Given the description of an element on the screen output the (x, y) to click on. 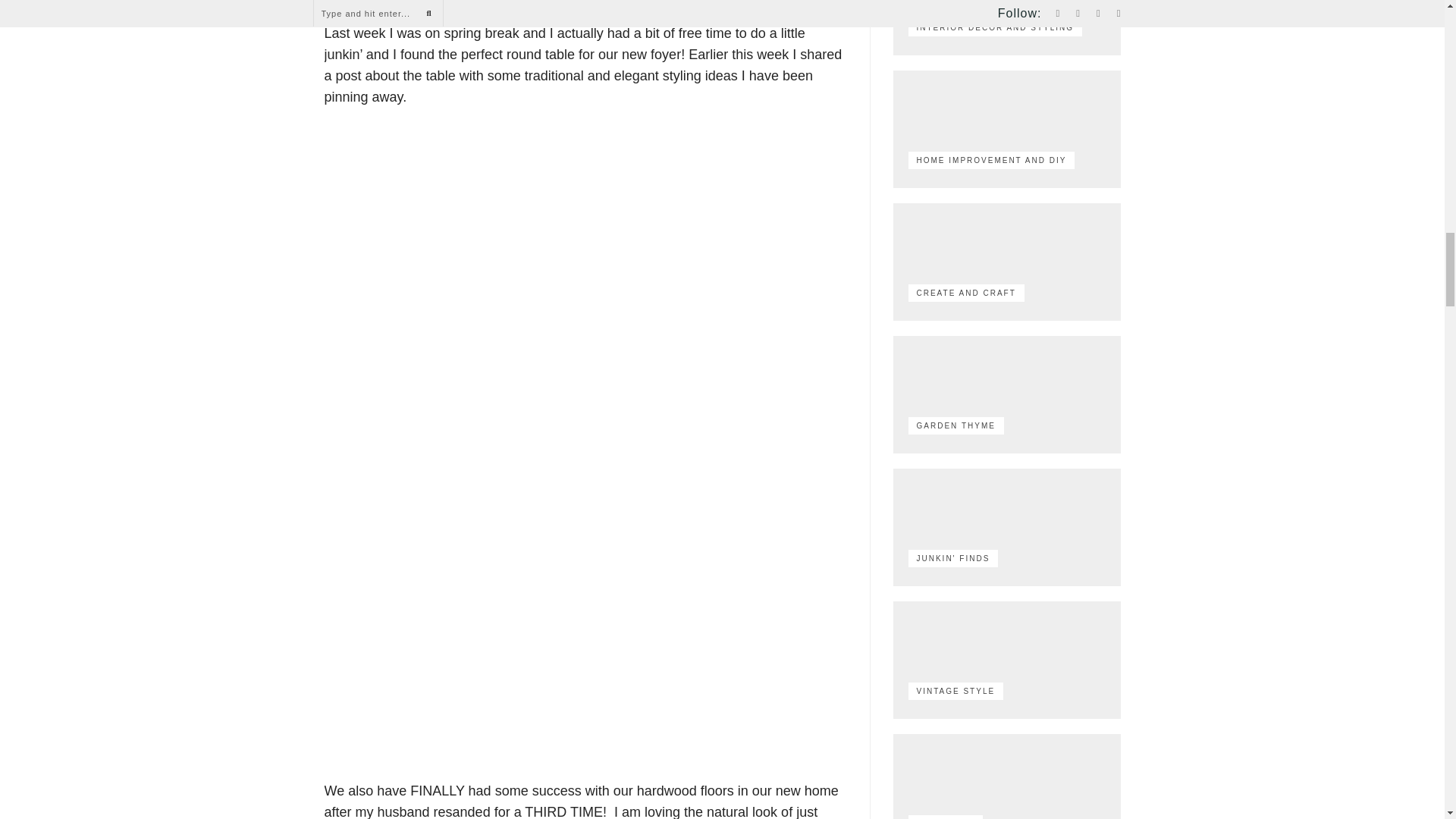
Elegant Traditional Style: Round Entryway Table Ideas (585, 5)
